Given the description of an element on the screen output the (x, y) to click on. 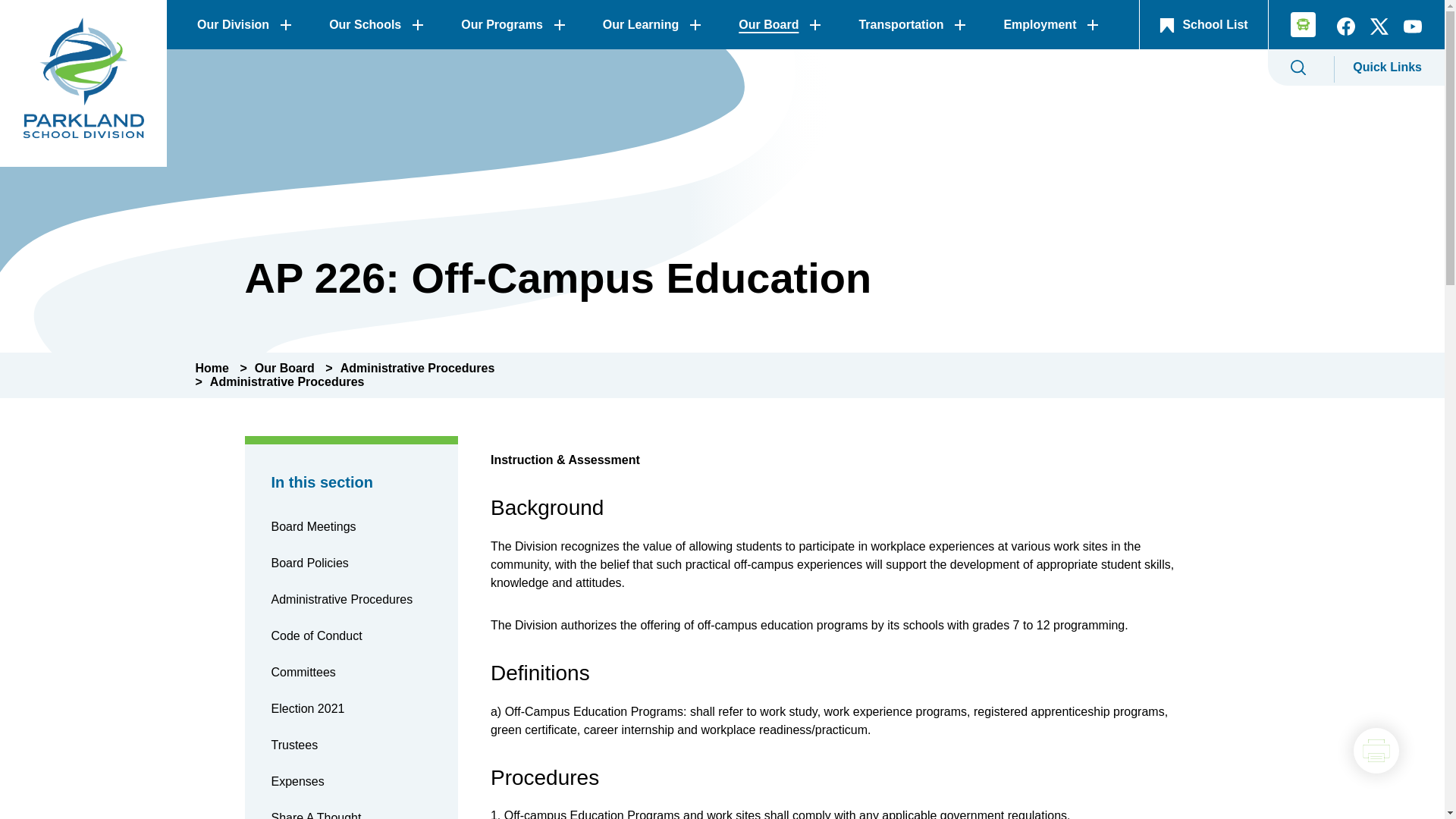
Facebook (1345, 30)
Twitter (1379, 30)
Bus Status (1298, 27)
Youtube (1412, 30)
Parkland School Division (83, 83)
